Given the description of an element on the screen output the (x, y) to click on. 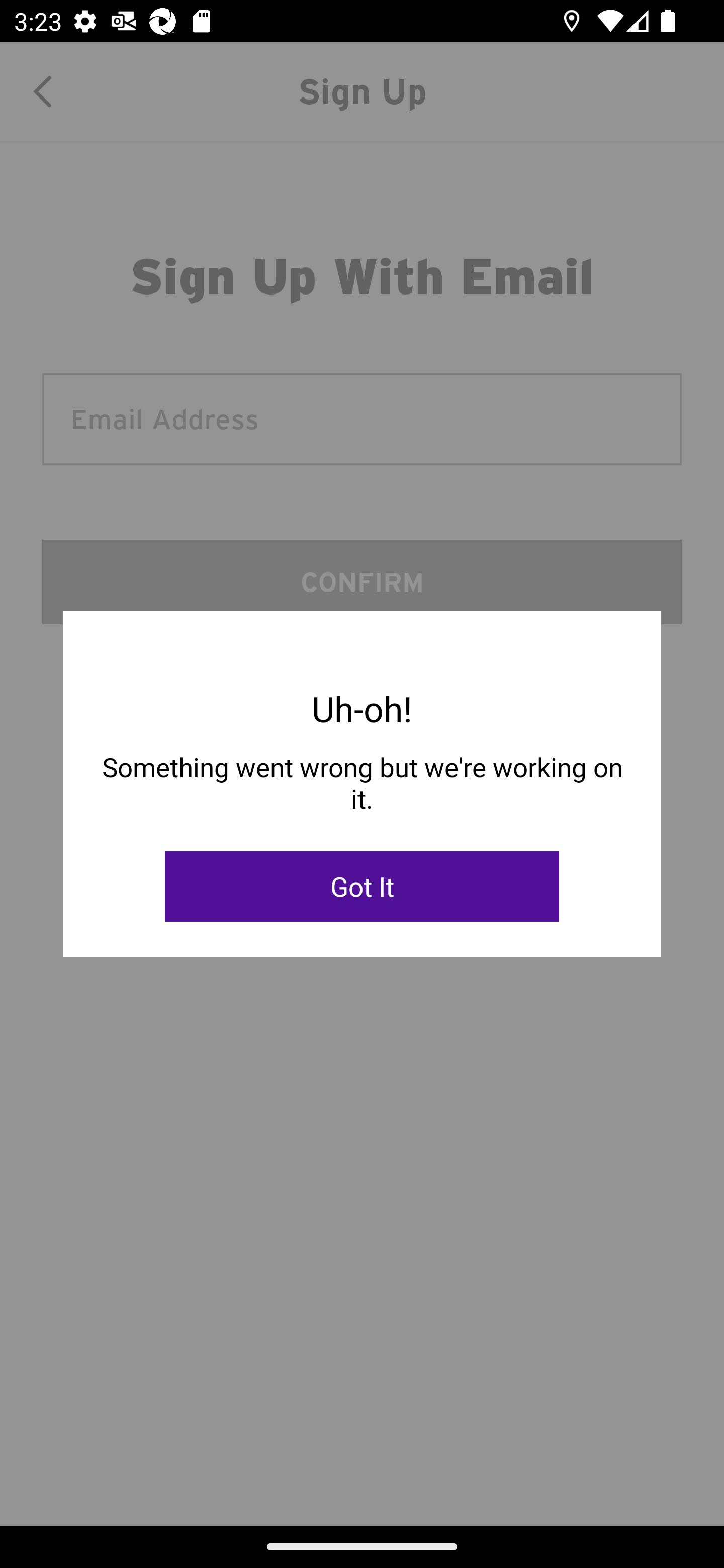
Got It (361, 886)
